Given the description of an element on the screen output the (x, y) to click on. 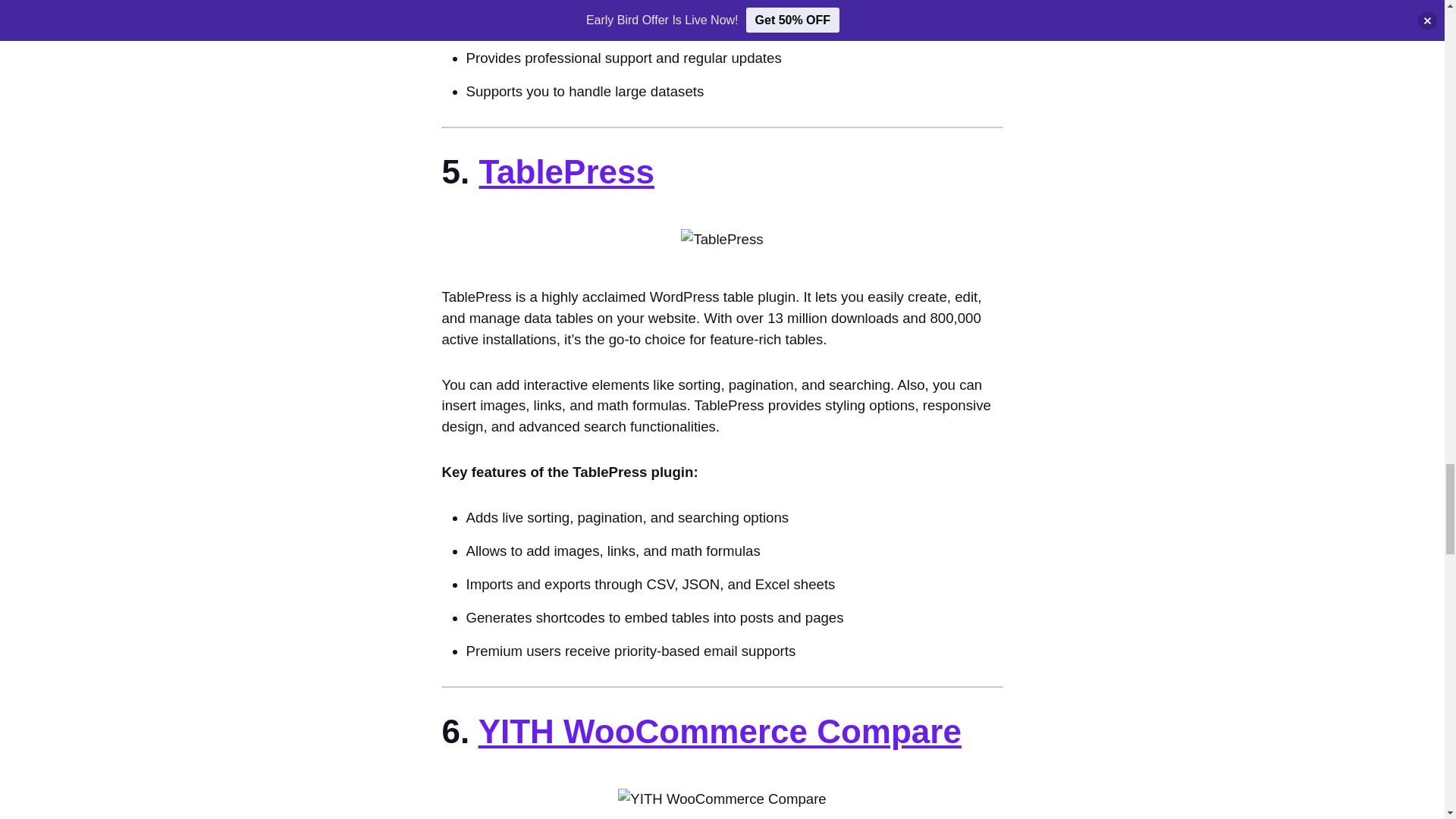
YITH WooCommerce Compare (719, 731)
TablePress (566, 171)
